Given the description of an element on the screen output the (x, y) to click on. 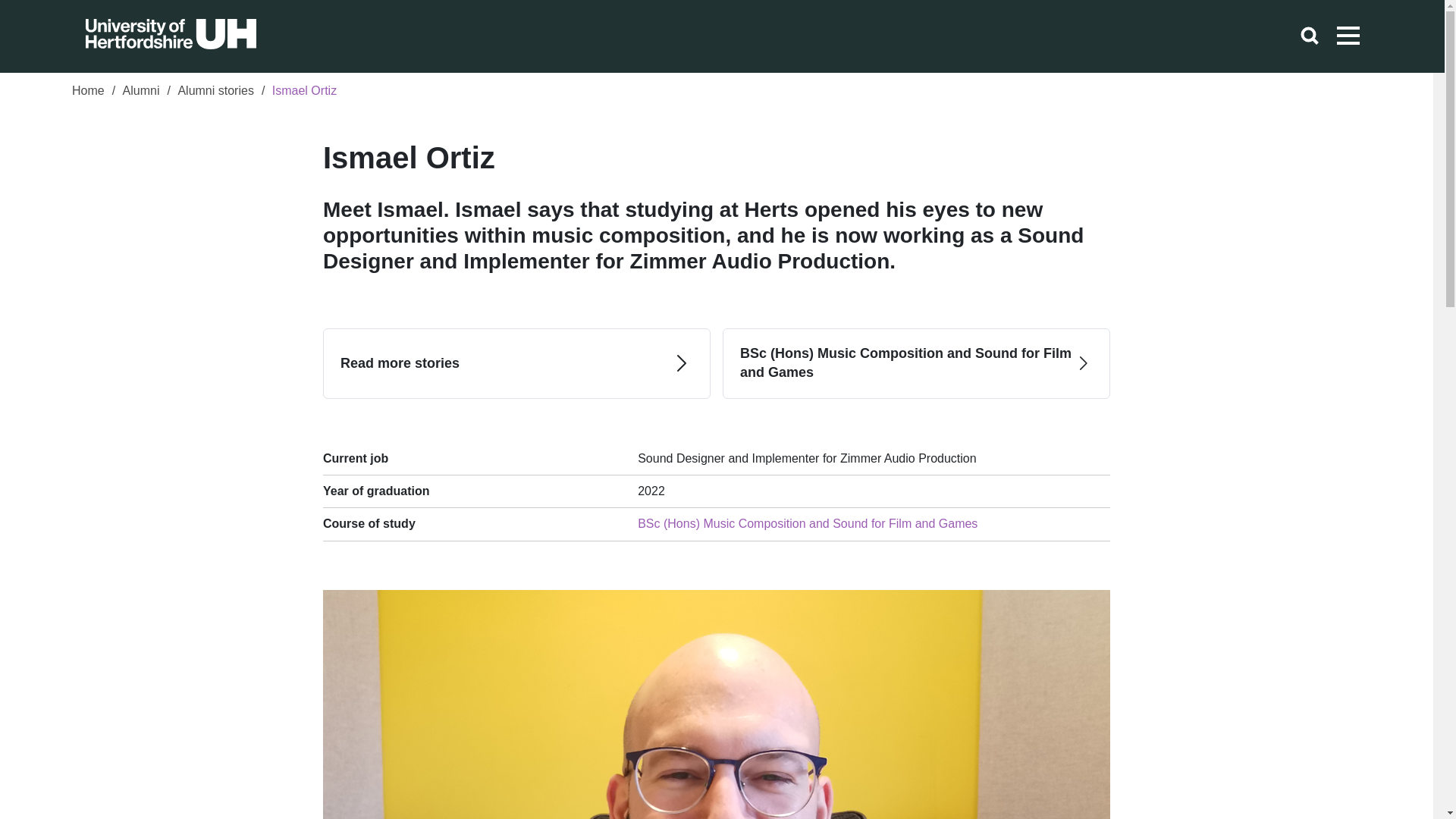
search (1308, 36)
Alumni stories (215, 92)
Home (87, 92)
Read more stories (516, 363)
Alumni (141, 92)
